Given the description of an element on the screen output the (x, y) to click on. 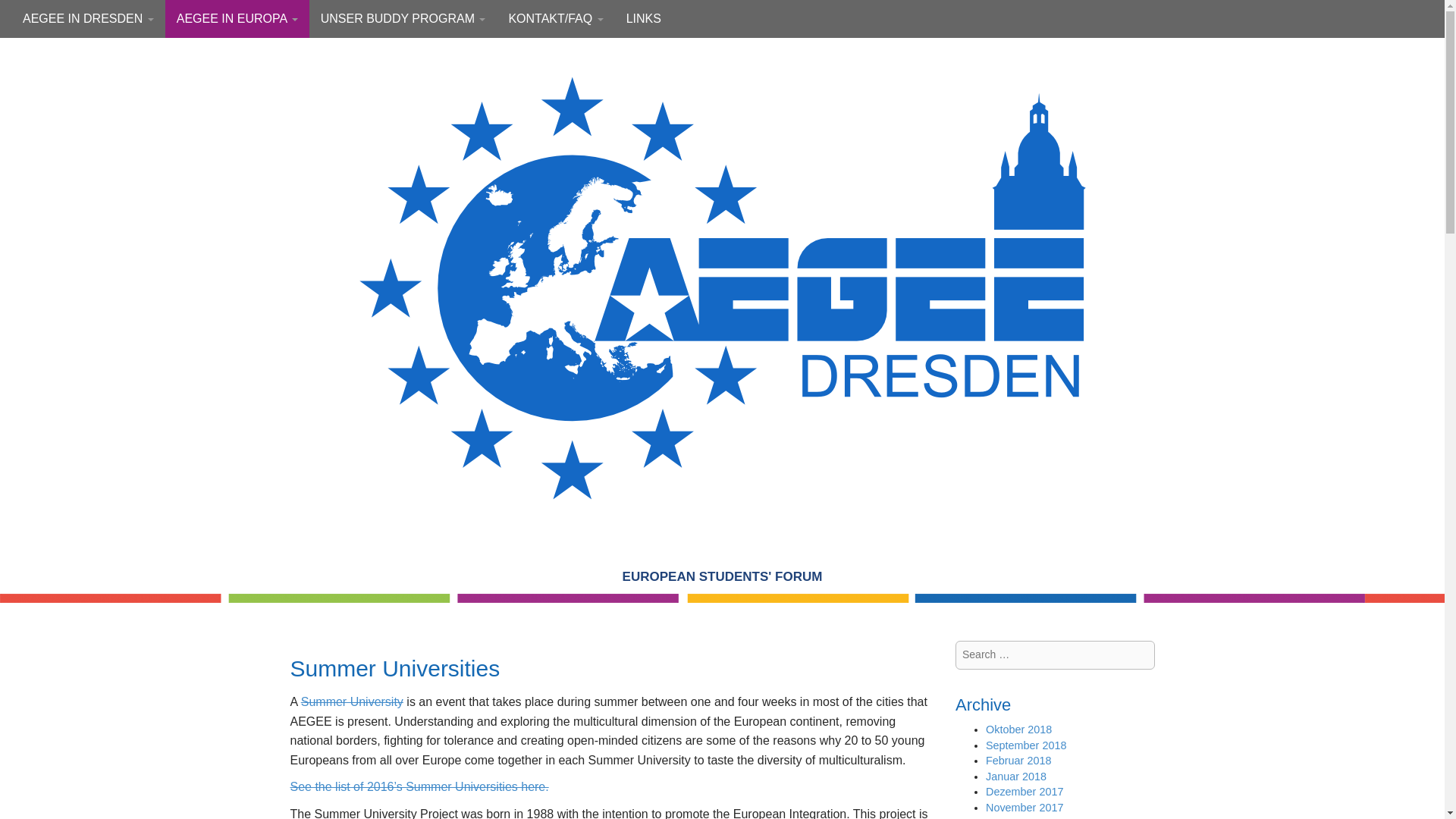
Oktober 2018 (1018, 729)
Februar 2018 (1018, 760)
LINKS (643, 18)
UNSER BUDDY PROGRAM (402, 18)
Januar 2018 (1015, 776)
Oktober 2017 (1018, 818)
November 2017 (1023, 807)
AEGEE IN DRESDEN (88, 18)
Summer University (352, 701)
AEGEE IN EUROPA (236, 18)
